Given the description of an element on the screen output the (x, y) to click on. 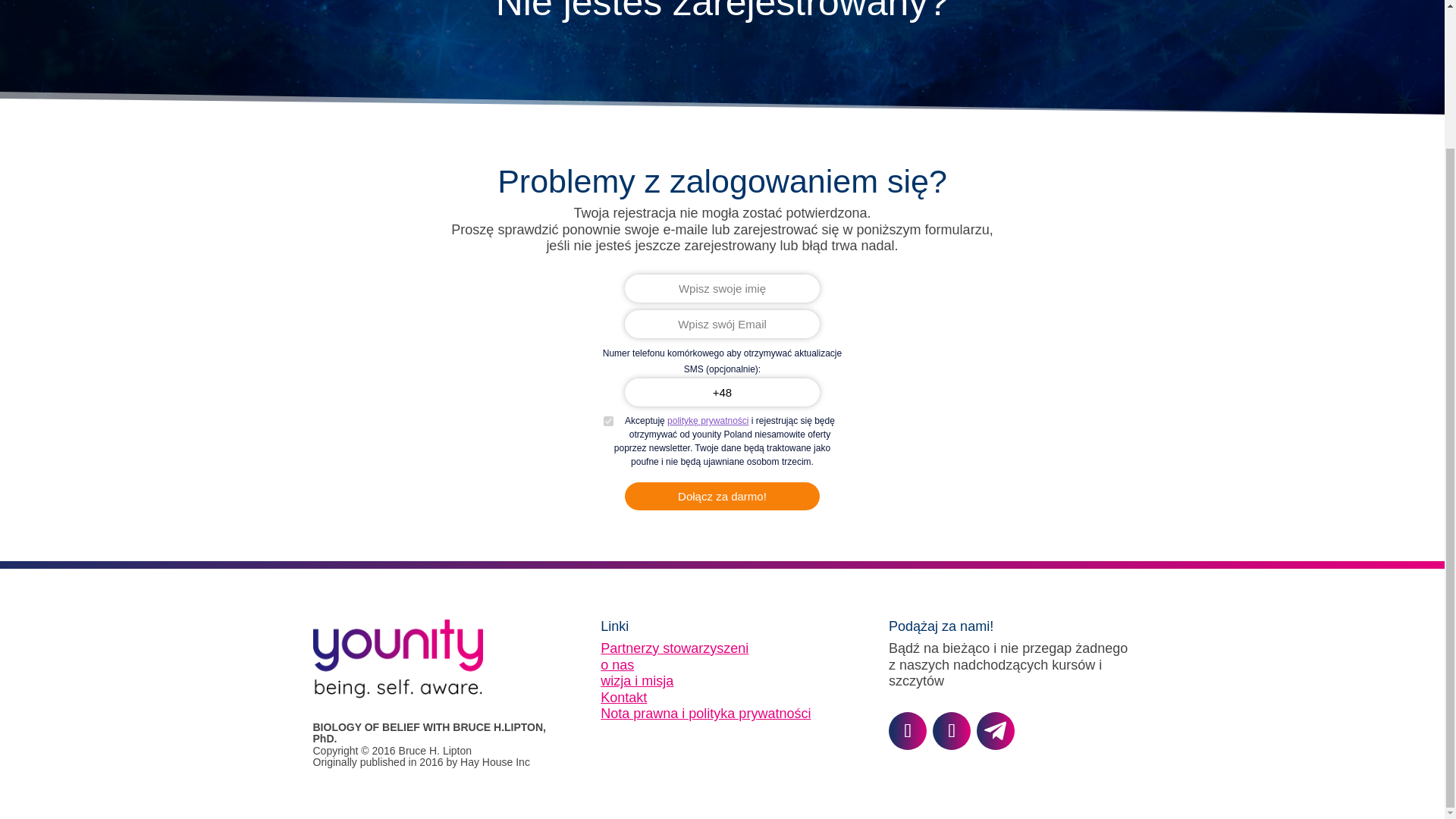
Kontakt (622, 697)
o nas (616, 664)
Partnerzy stowarzyszeni (673, 648)
wizja i misja (635, 680)
the checkbox (608, 420)
